Given the description of an element on the screen output the (x, y) to click on. 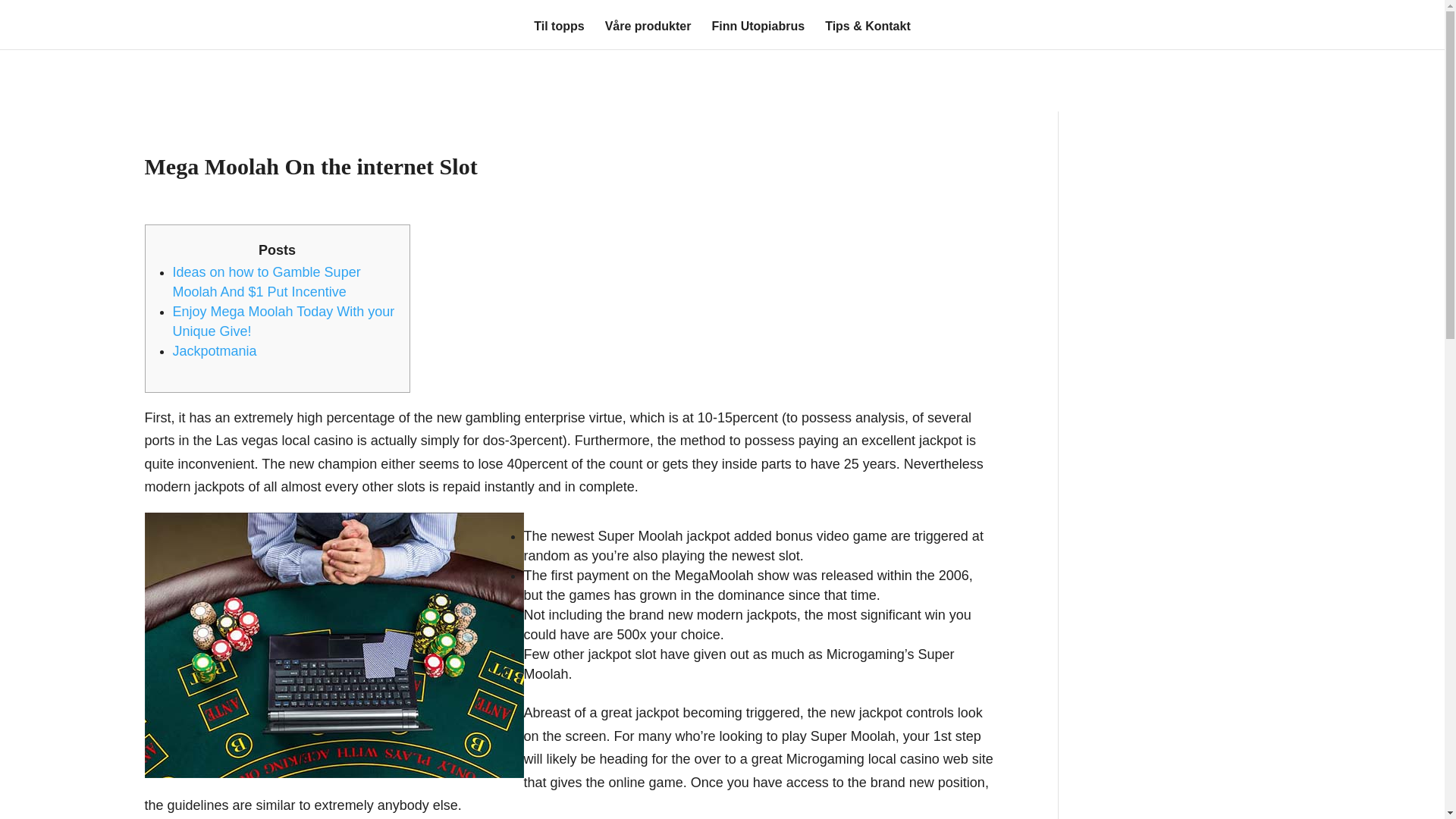
Jackpotmania (215, 350)
Finn Utopiabrus (758, 35)
Til topps (558, 35)
Enjoy Mega Moolah Today With your Unique Give! (283, 321)
